Given the description of an element on the screen output the (x, y) to click on. 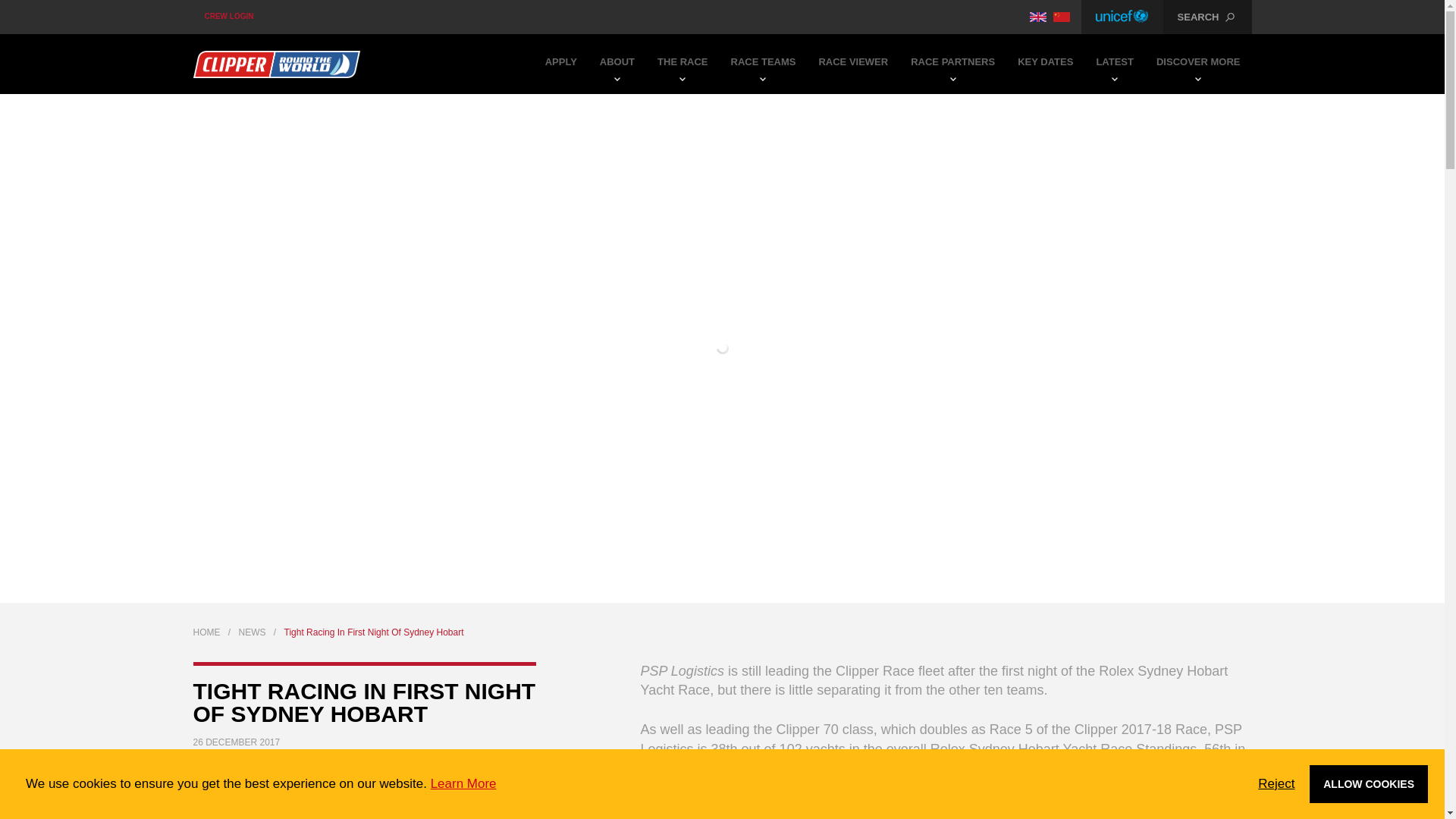
ABOUT (617, 64)
Clipper Round The World (275, 64)
Submit (723, 101)
Chinese (1061, 17)
Chinese (1061, 17)
Chinese (1061, 17)
English (1037, 17)
English (1037, 17)
Unicef (1122, 17)
RACE TEAMS (762, 64)
Clipper - Round The World (275, 64)
THE RACE (682, 64)
CREW LOGIN (228, 17)
APPLY (561, 64)
English (1037, 17)
